Given the description of an element on the screen output the (x, y) to click on. 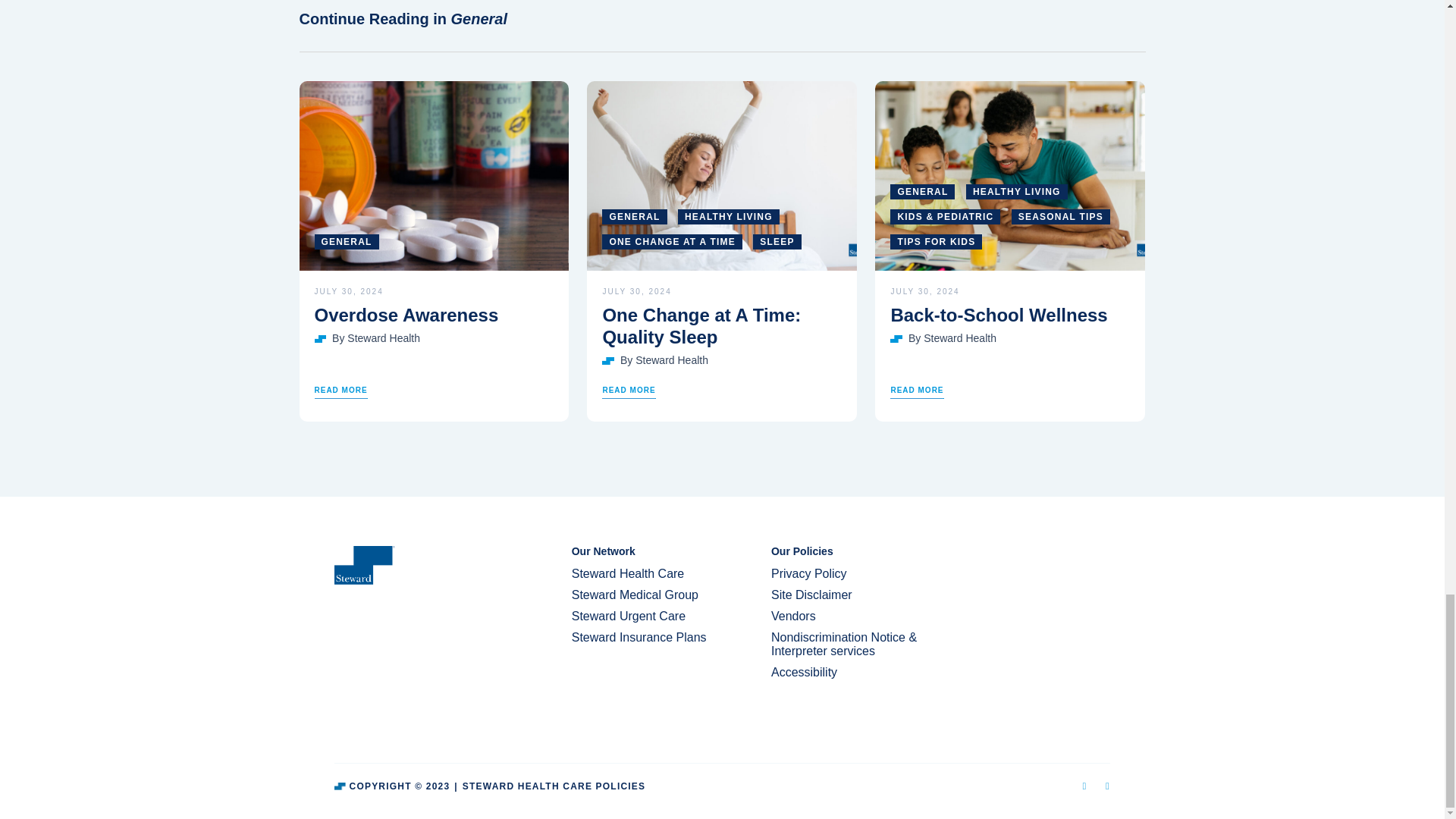
SEASONAL TIPS (1060, 216)
SLEEP (776, 241)
GENERAL (346, 241)
Back-to-School Wellness (1009, 315)
ONE CHANGE AT A TIME (671, 241)
TIPS FOR KIDS (935, 241)
Overdose Awareness (433, 315)
GENERAL (634, 216)
One Change at A Time: Quality Sleep (721, 326)
READ MORE (340, 391)
READ MORE (916, 391)
HEALTHY LIVING (1016, 191)
GENERAL (922, 191)
READ MORE (628, 391)
HEALTHY LIVING (728, 216)
